Given the description of an element on the screen output the (x, y) to click on. 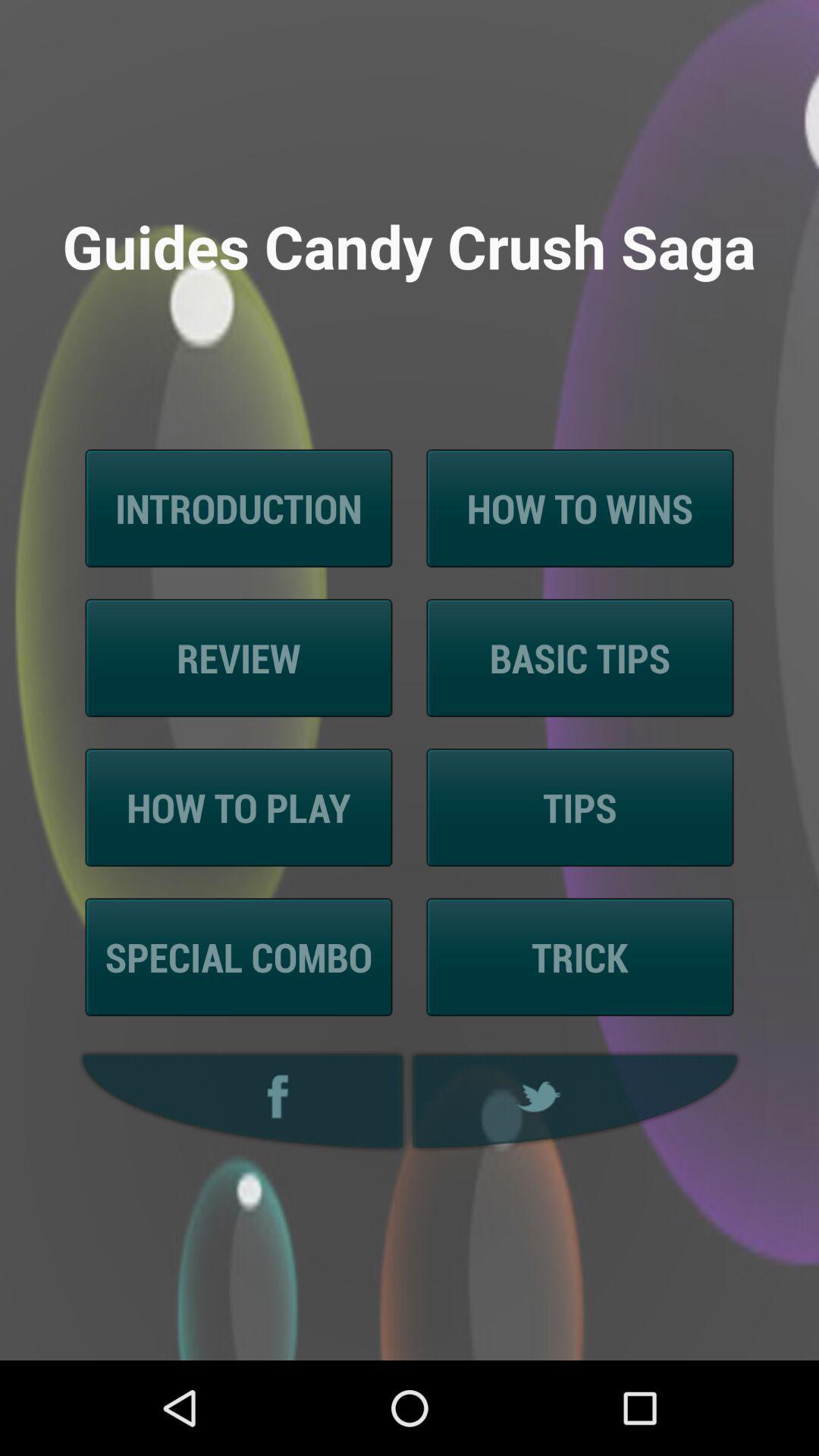
select the icon to the right of the review (579, 657)
